Given the description of an element on the screen output the (x, y) to click on. 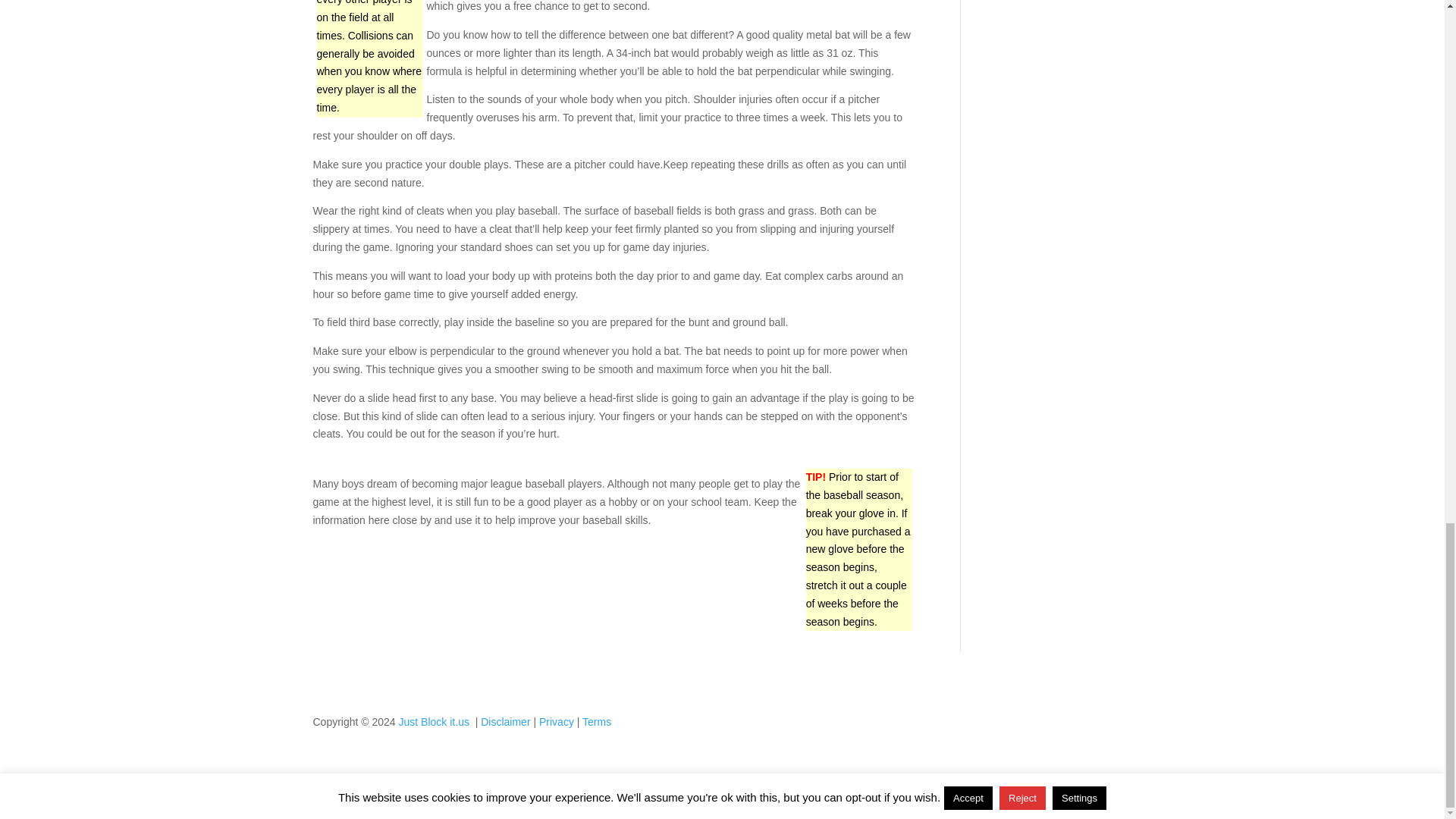
Disclaimer (504, 721)
Privacy (555, 721)
Just Block it.us (434, 721)
Terms (596, 721)
